Given the description of an element on the screen output the (x, y) to click on. 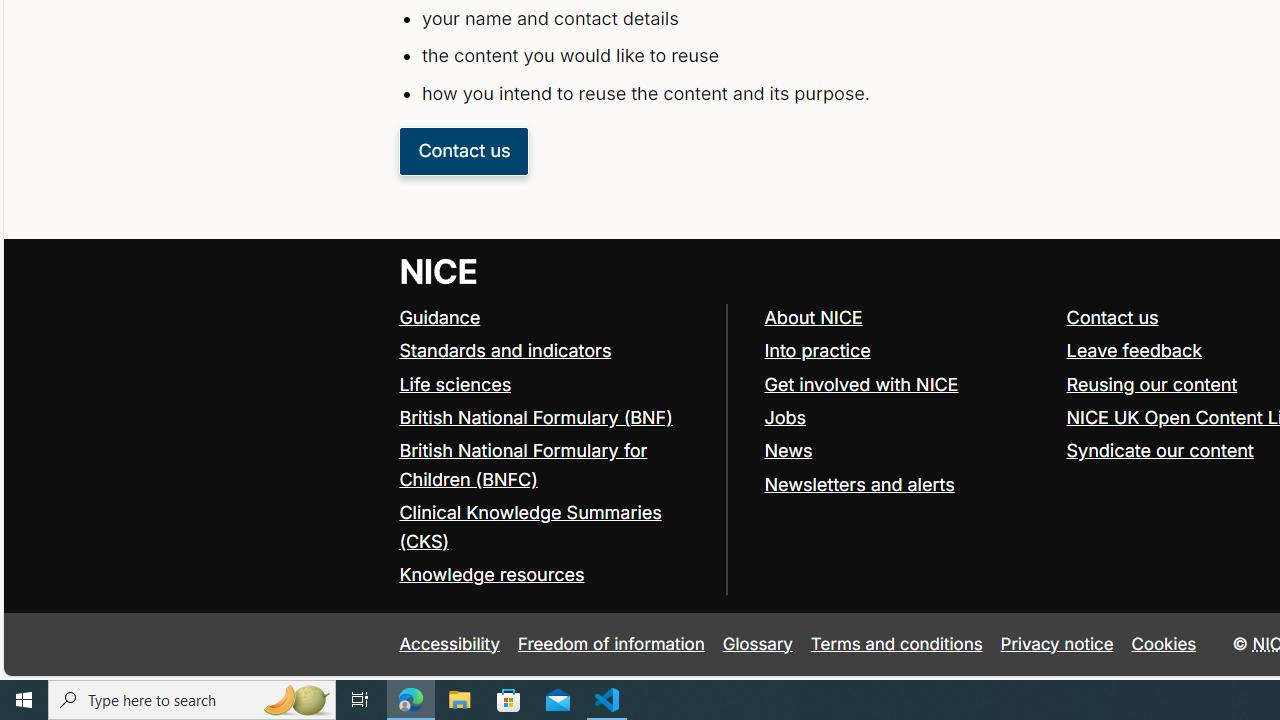
Leave feedback (1134, 350)
the content you would like to reuse (796, 56)
Knowledge resources (491, 574)
About NICE (906, 317)
Privacy notice (1056, 644)
Into practice (817, 350)
Accessibility (449, 644)
Contact us (1112, 317)
Accessibility (449, 644)
Terms and conditions (896, 644)
Glossary (757, 644)
